Given the description of an element on the screen output the (x, y) to click on. 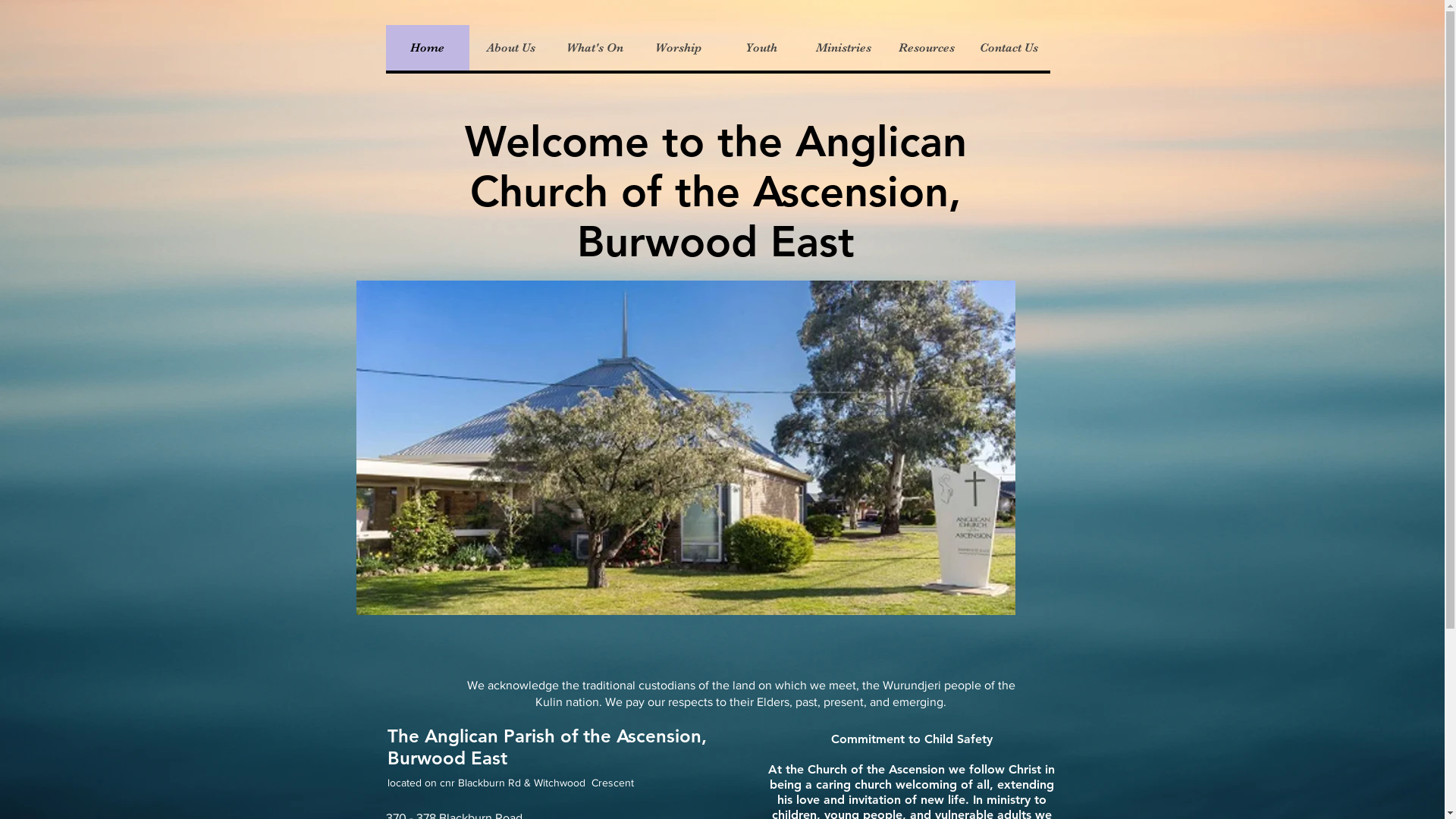
Worship Element type: text (676, 47)
Contact Us Element type: text (1008, 47)
Home Element type: text (426, 47)
About Us Element type: text (510, 47)
Resources Element type: text (925, 47)
Ministries Element type: text (843, 47)
Youth Element type: text (759, 47)
What's On Element type: text (593, 47)
